Given the description of an element on the screen output the (x, y) to click on. 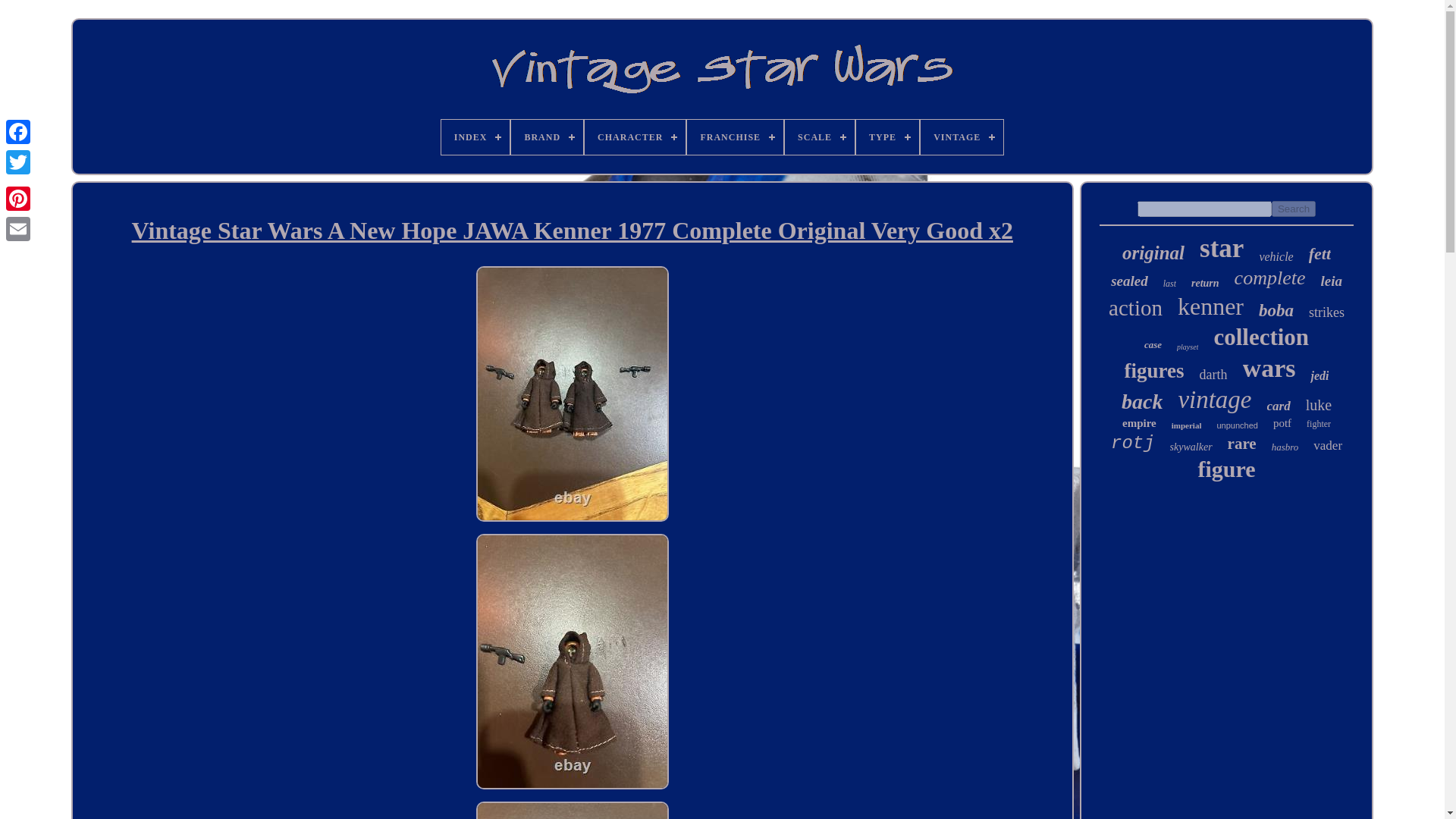
CHARACTER (635, 136)
BRAND (547, 136)
INDEX (476, 136)
Search (1293, 208)
